Given the description of an element on the screen output the (x, y) to click on. 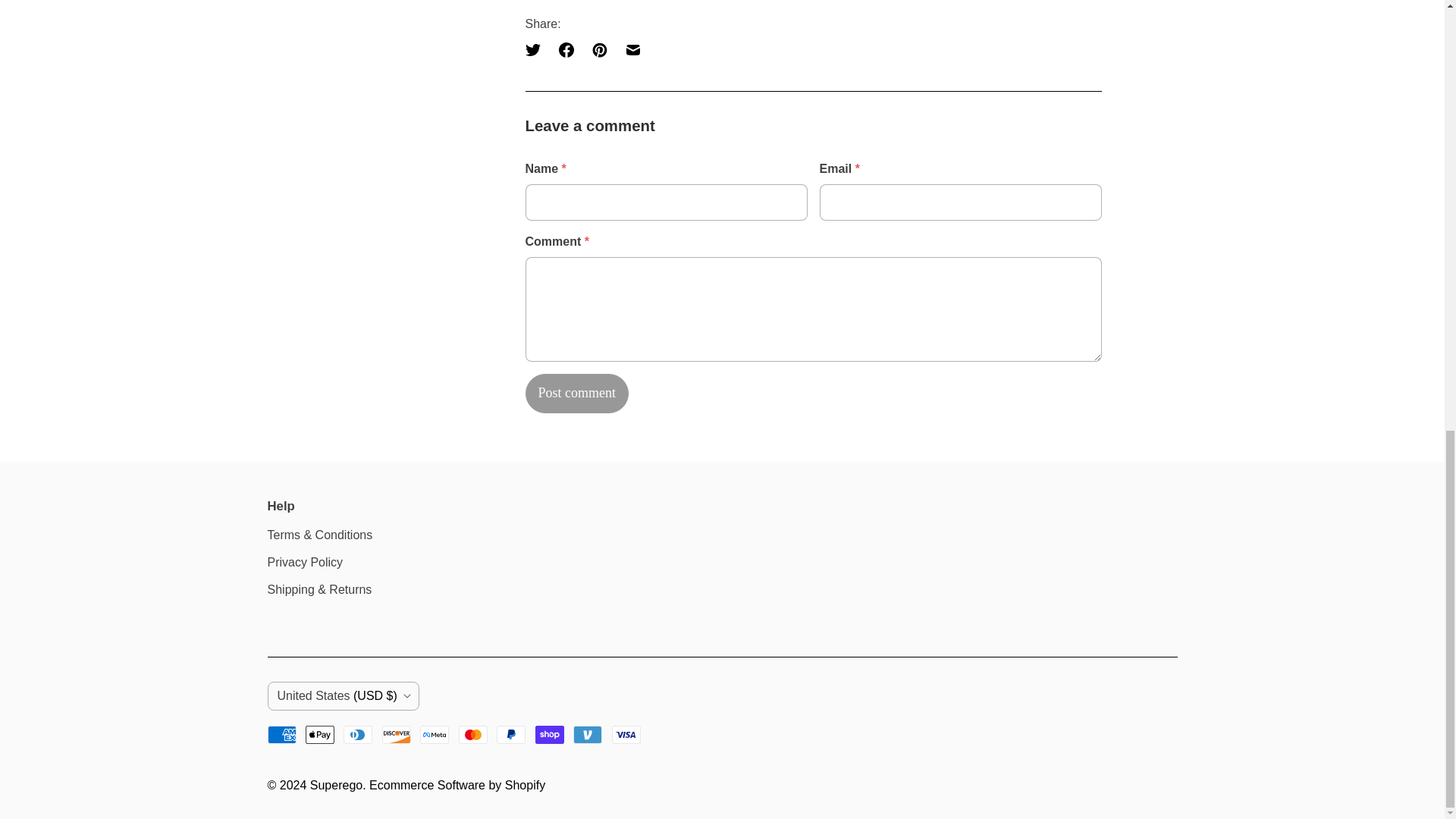
Mastercard (472, 734)
Diners Club (357, 734)
Visa (625, 734)
American Express (280, 734)
Venmo (587, 734)
Share this on Facebook (565, 49)
Share this on Pinterest (598, 49)
Discover (395, 734)
Meta Pay (434, 734)
Apple Pay (319, 734)
Email this to a friend (632, 49)
PayPal (510, 734)
Post comment (576, 392)
Shop Pay (549, 734)
